Given the description of an element on the screen output the (x, y) to click on. 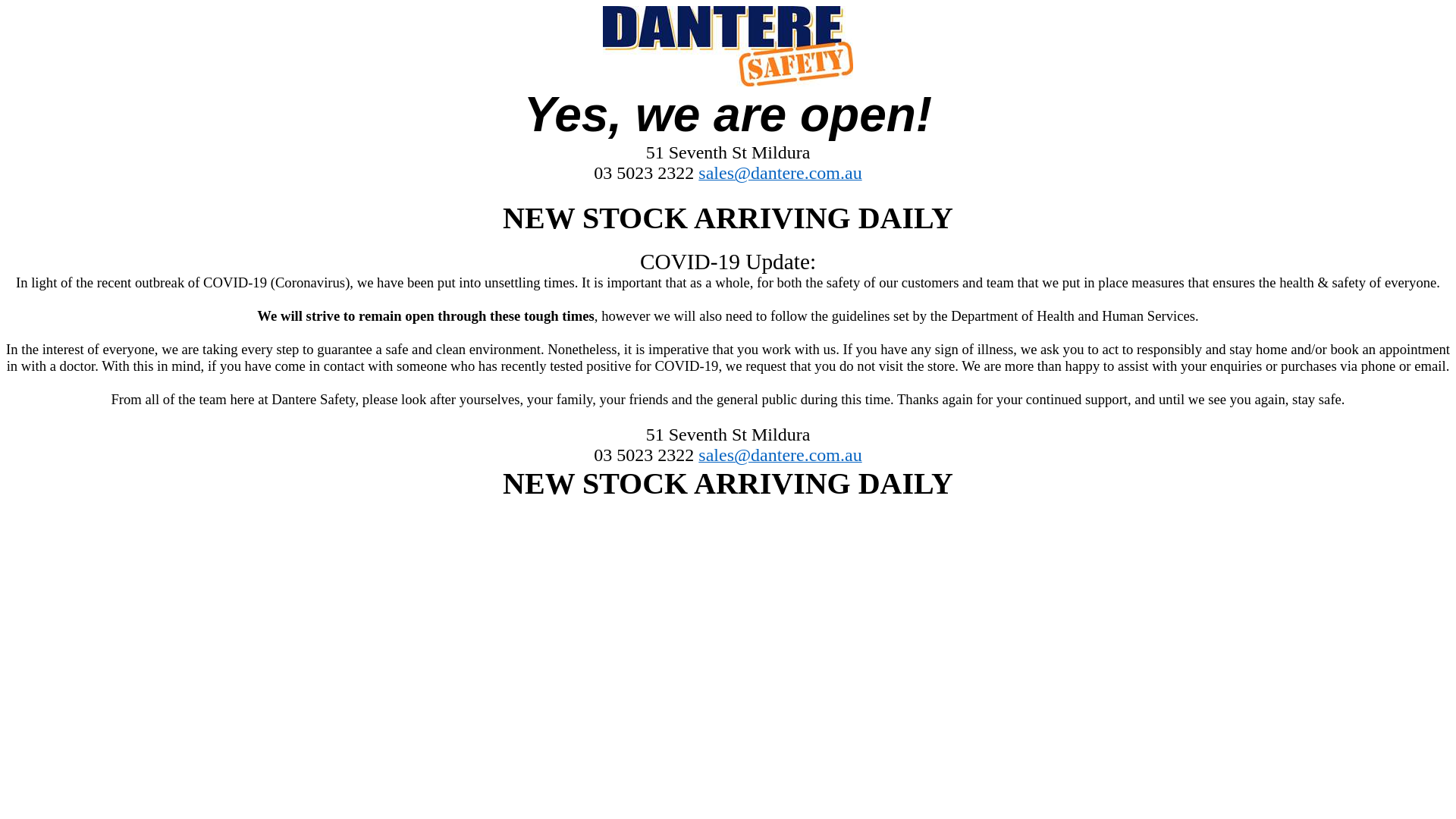
sales@dantere.com.au Element type: text (779, 174)
sales@dantere.com.au Element type: text (779, 456)
